Given the description of an element on the screen output the (x, y) to click on. 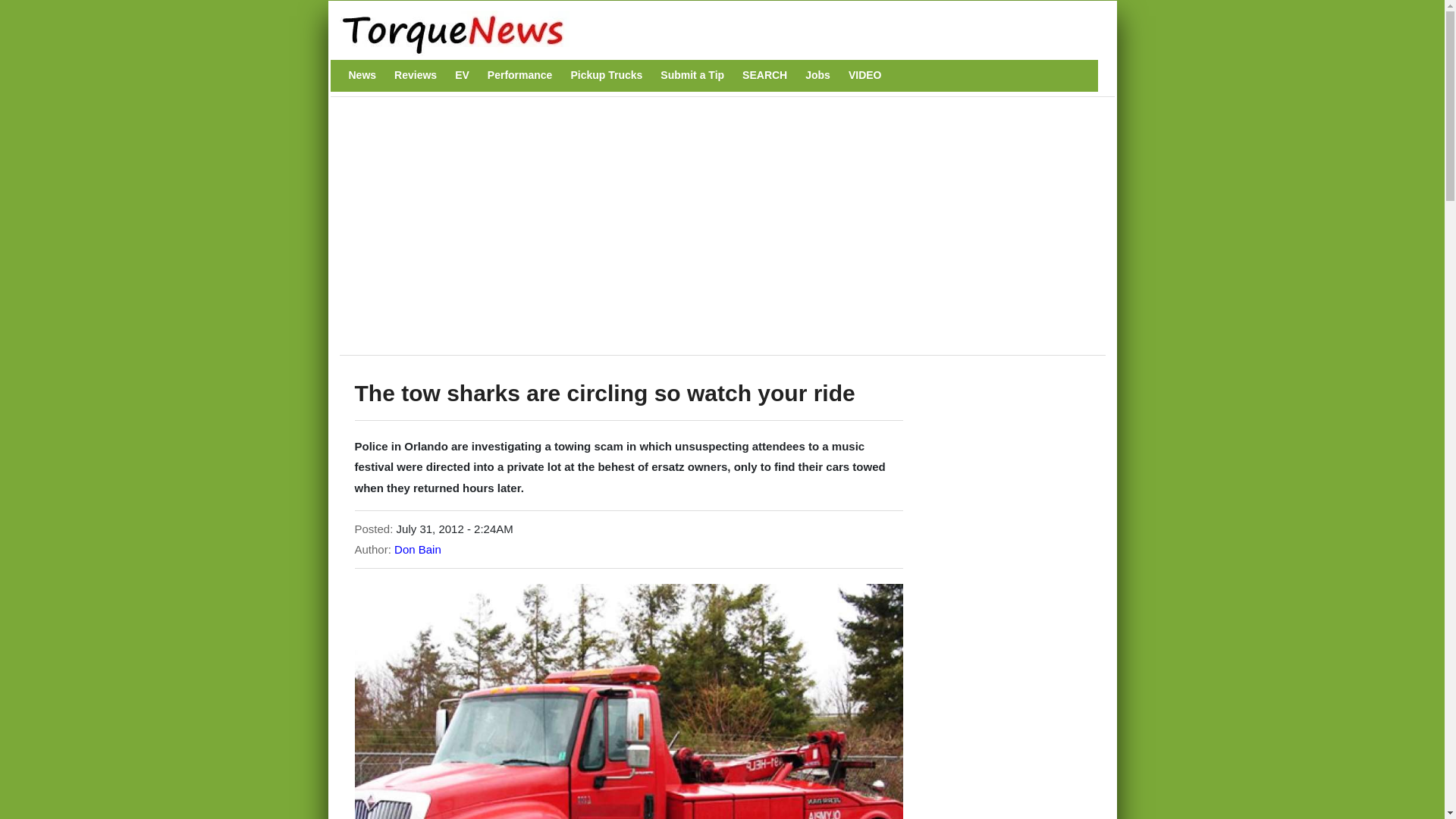
SEARCH (764, 75)
VIDEO (865, 75)
Automotive journalism jobs and careers are TorqueNews.com. (817, 75)
Performance (520, 75)
Jobs (817, 75)
Advertisement (624, 233)
View user profile. (417, 549)
News (362, 75)
Home (713, 32)
News (362, 75)
